Given the description of an element on the screen output the (x, y) to click on. 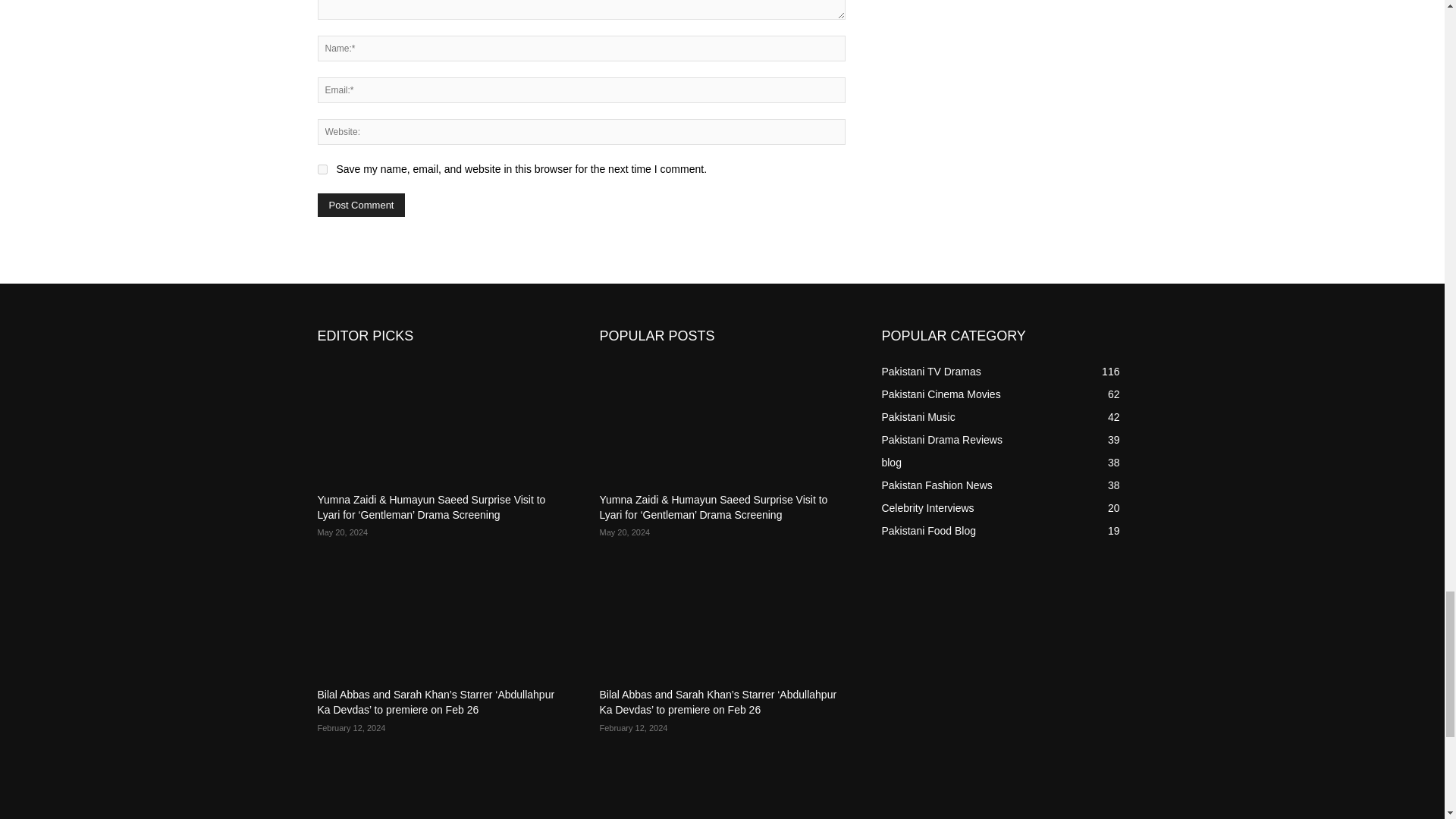
yes (321, 169)
Post Comment (360, 205)
